Given the description of an element on the screen output the (x, y) to click on. 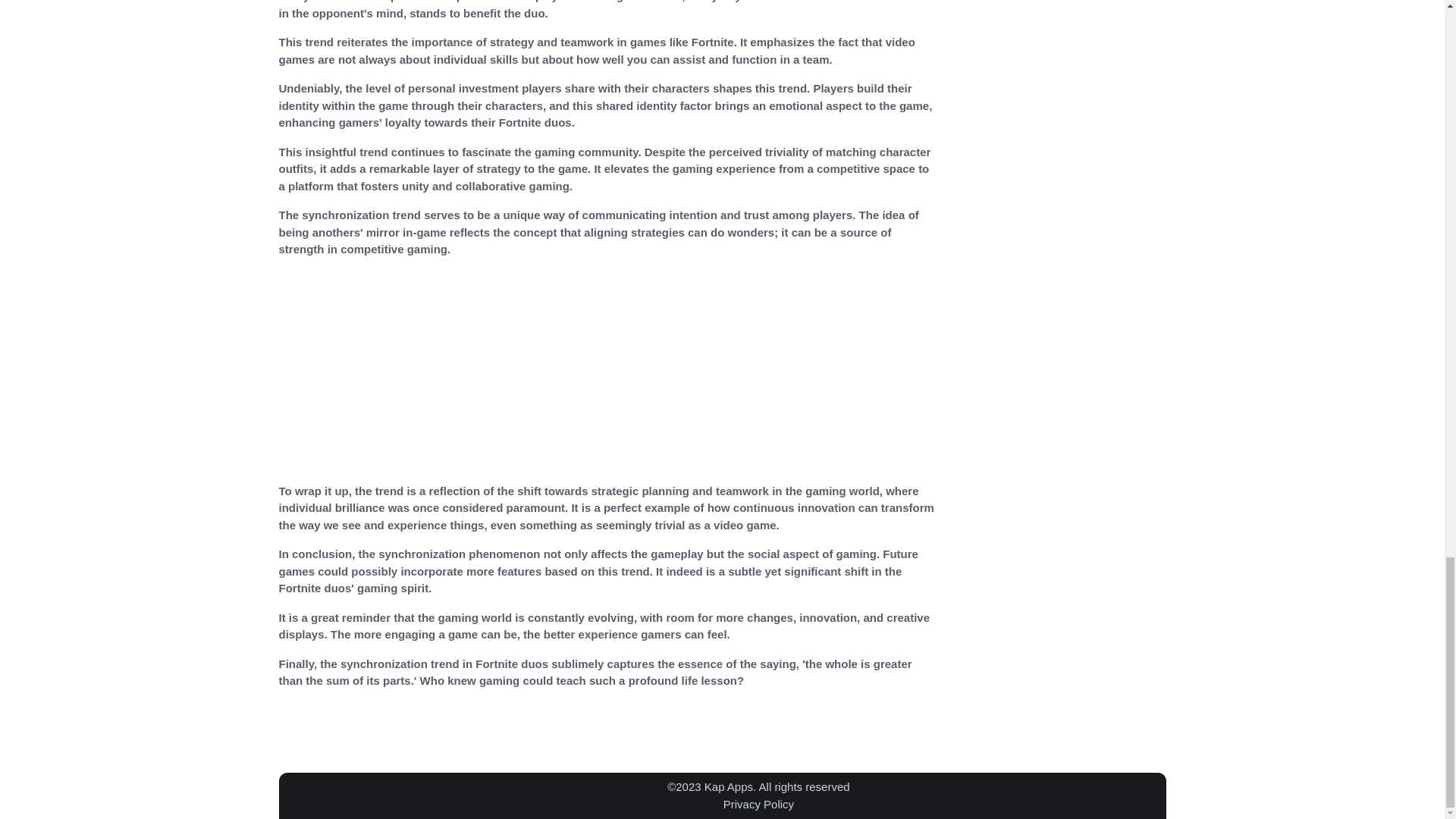
Kap Apps (727, 786)
Privacy Policy (757, 802)
